Given the description of an element on the screen output the (x, y) to click on. 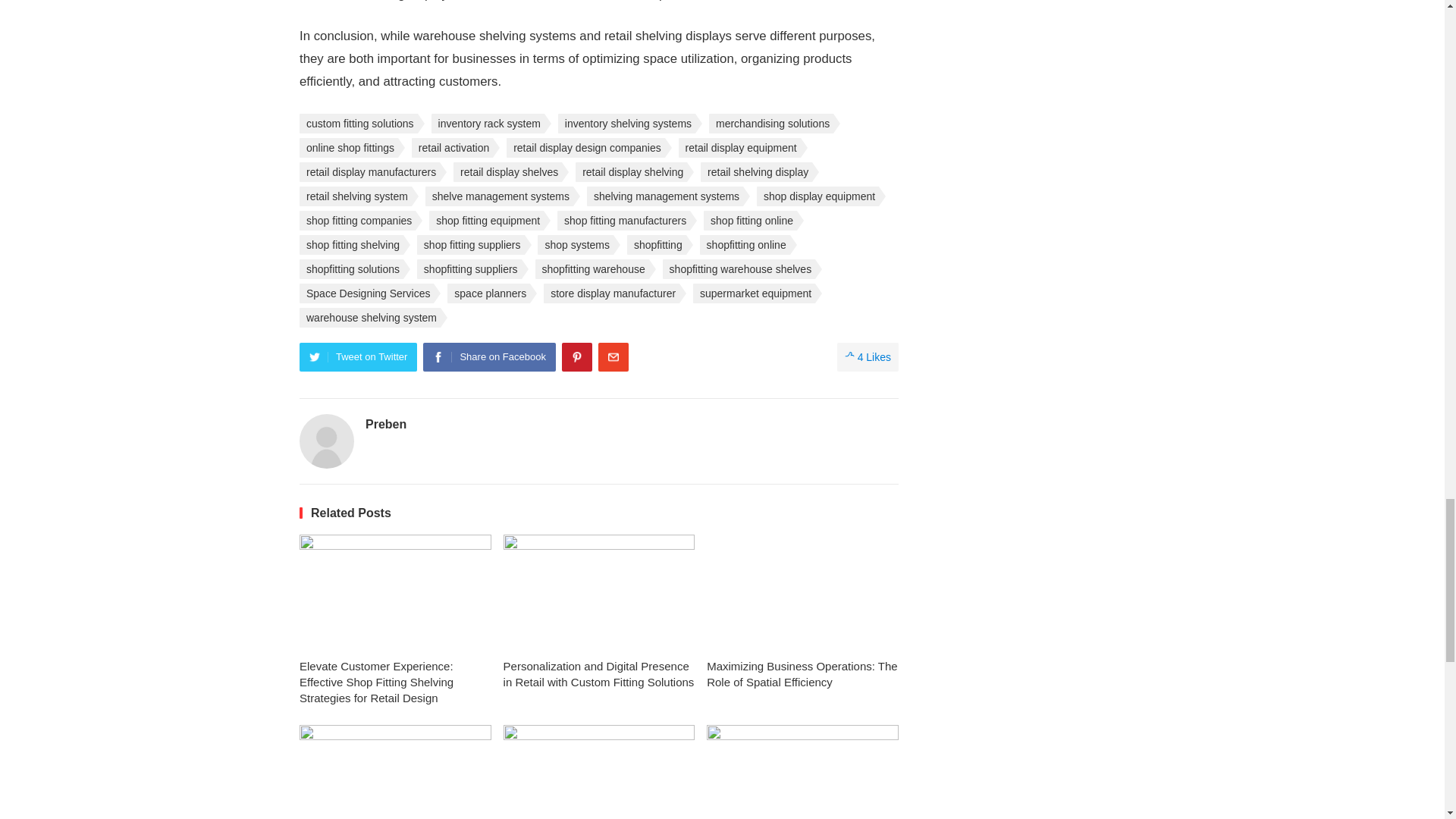
Like this post (867, 357)
online shop fittings (348, 148)
custom fitting solutions (358, 123)
inventory shelving systems (626, 123)
inventory rack system (487, 123)
merchandising solutions (770, 123)
